Given the description of an element on the screen output the (x, y) to click on. 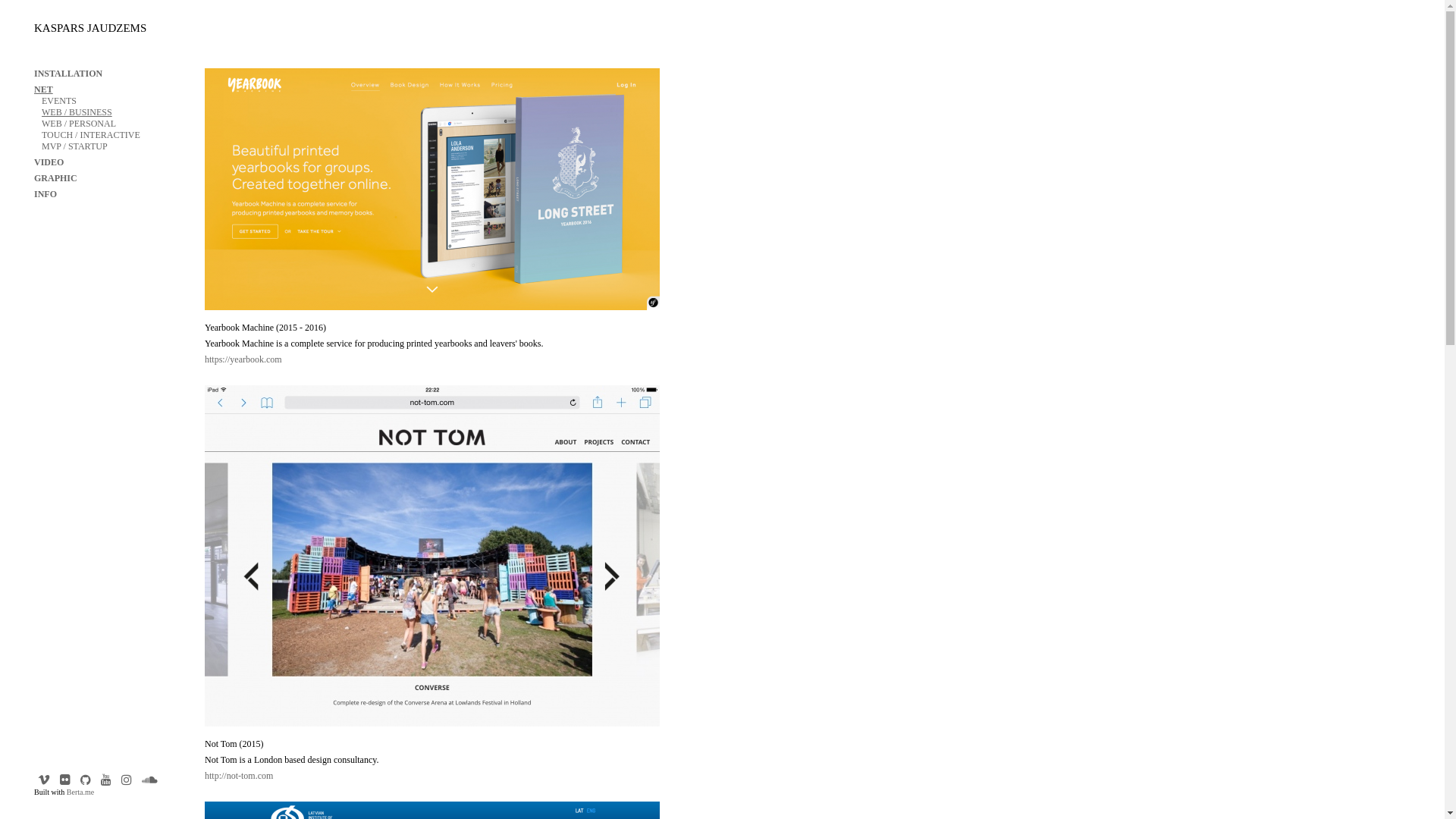
Vimeo Element type: text (43, 779)
INSTALLATION Element type: text (68, 73)
Instagram Element type: text (126, 779)
GRAPHIC Element type: text (55, 177)
KASPARS JAUDZEMS Element type: text (90, 27)
Berta.me Element type: text (80, 791)
Youtube Element type: text (106, 779)
TOUCH / INTERACTIVE Element type: text (90, 134)
EVENTS Element type: text (58, 100)
Soundcloud Element type: text (149, 779)
NET Element type: text (43, 89)
WEB / BUSINESS Element type: text (76, 111)
VIDEO Element type: text (48, 161)
Instagram Element type: text (65, 779)
INFO Element type: text (45, 193)
MVP / STARTUP Element type: text (74, 146)
GitHub Element type: text (85, 779)
http://not-tom.com Element type: text (238, 775)
WEB / PERSONAL Element type: text (78, 123)
https://yearbook.com Element type: text (243, 359)
